Given the description of an element on the screen output the (x, y) to click on. 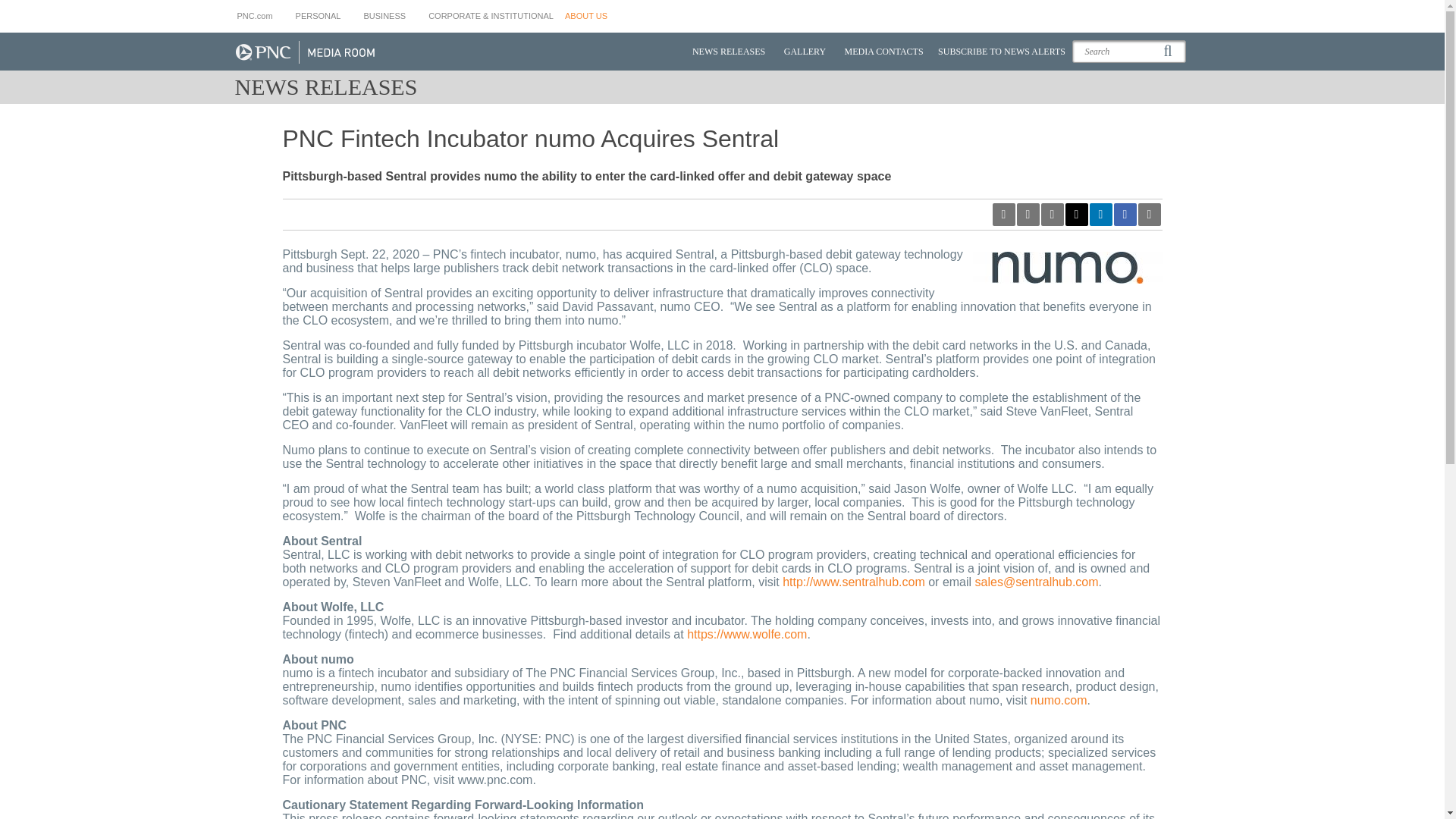
Twitter Share (1075, 214)
PERSONAL (317, 15)
SUBSCRIBE TO NEWS ALERTS (1001, 51)
BUSINESS (384, 15)
print (1148, 214)
Linkedin Share (1100, 214)
GALLERY (804, 51)
PNC.com (259, 15)
rss (1027, 214)
Facebook Share (1124, 214)
pdf (1002, 214)
Search (1128, 51)
MEDIA CONTACTS (884, 51)
email (1051, 214)
NEWS RELEASES (728, 51)
